Given the description of an element on the screen output the (x, y) to click on. 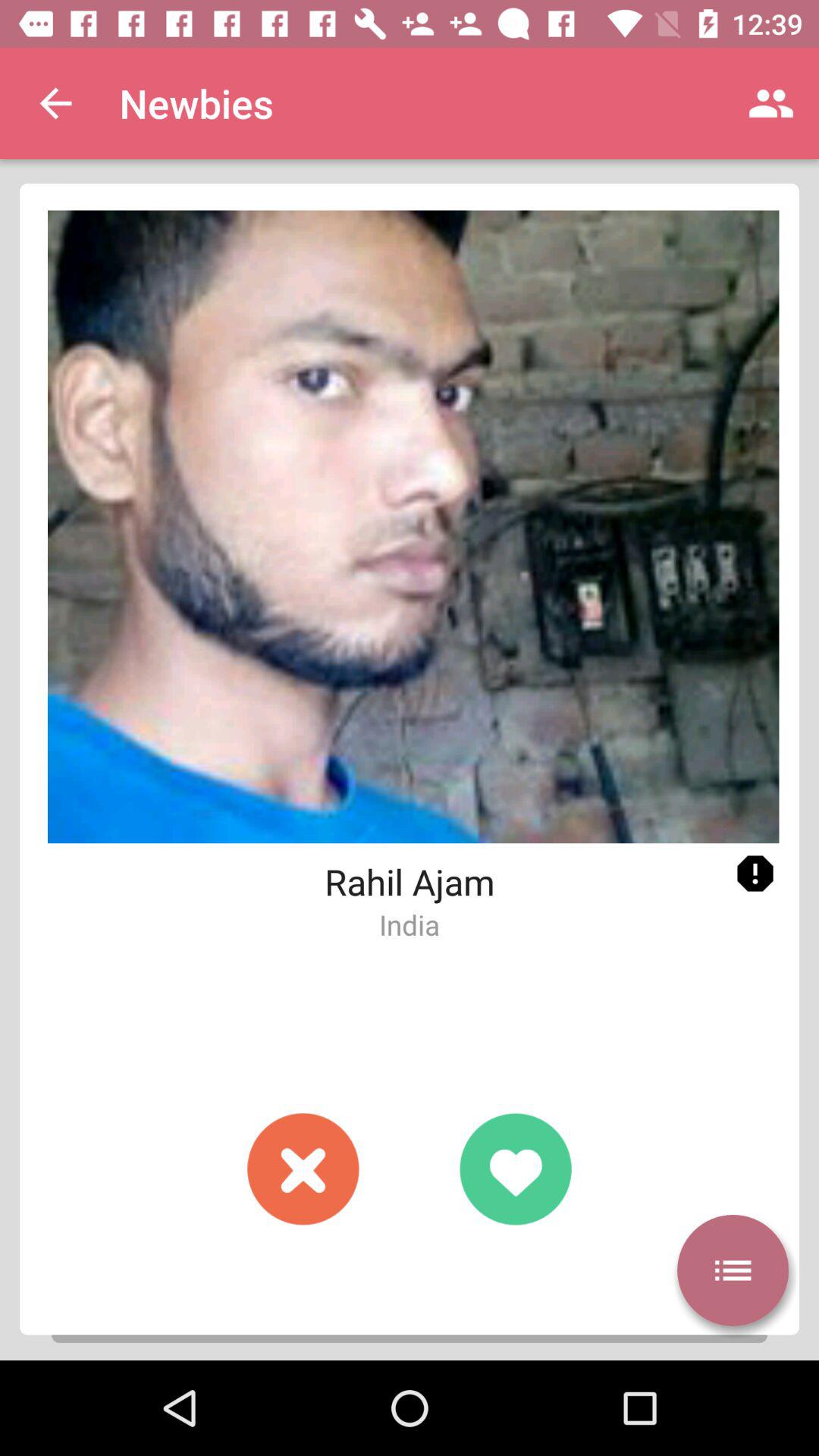
close button (303, 1169)
